Given the description of an element on the screen output the (x, y) to click on. 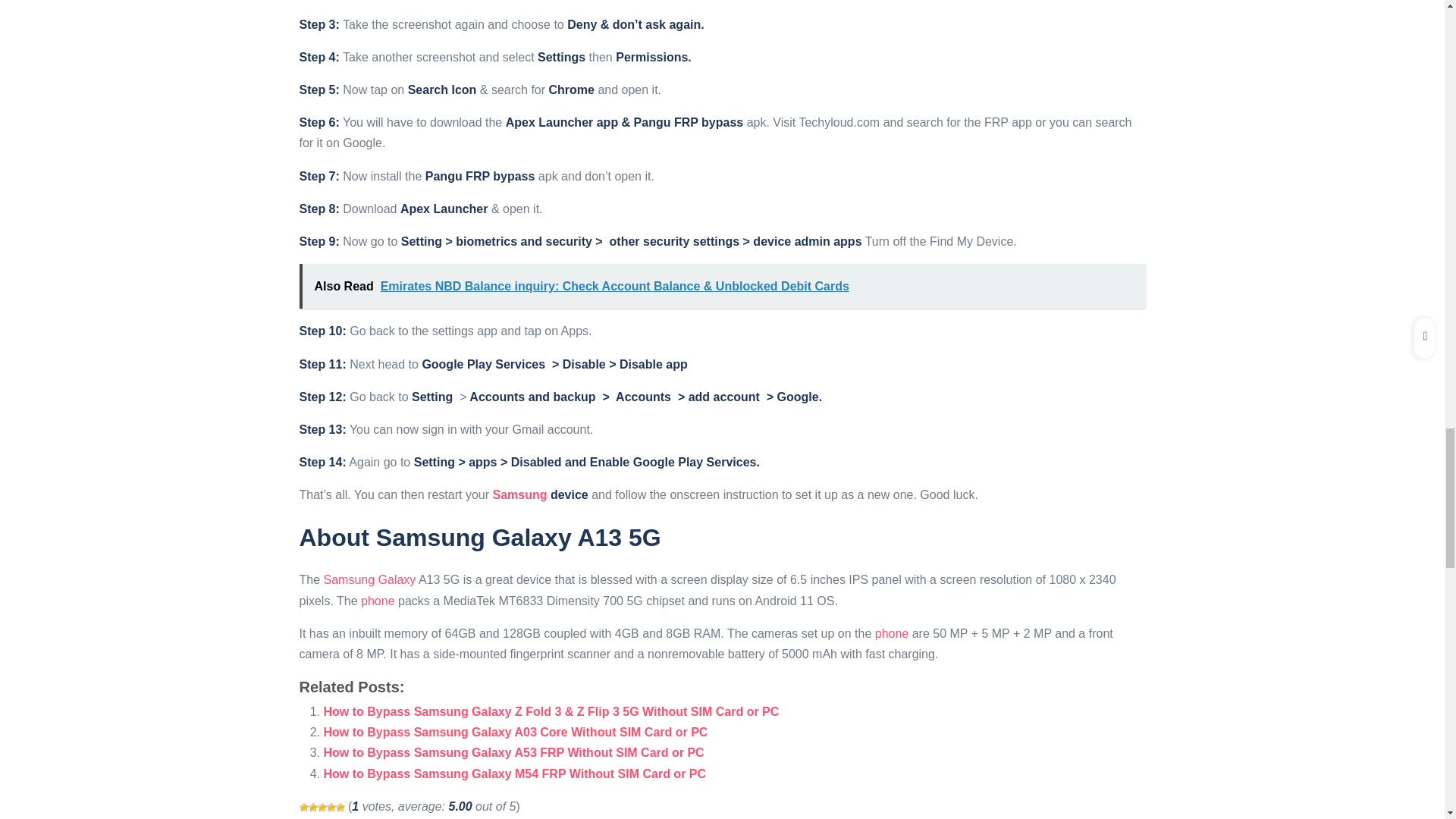
1 vote, average: 5.00 out of 5 (312, 807)
How to Bypass Samsung Galaxy M54 FRP Without SIM Card or PC (514, 773)
1 vote, average: 5.00 out of 5 (302, 807)
How to Bypass Samsung Galaxy A53 FRP Without SIM Card or PC (513, 752)
1 vote, average: 5.00 out of 5 (321, 807)
1 vote, average: 5.00 out of 5 (330, 807)
How to Bypass Samsung Galaxy A03 Core Without SIM Card or PC (515, 731)
1 vote, average: 5.00 out of 5 (338, 807)
